Given the description of an element on the screen output the (x, y) to click on. 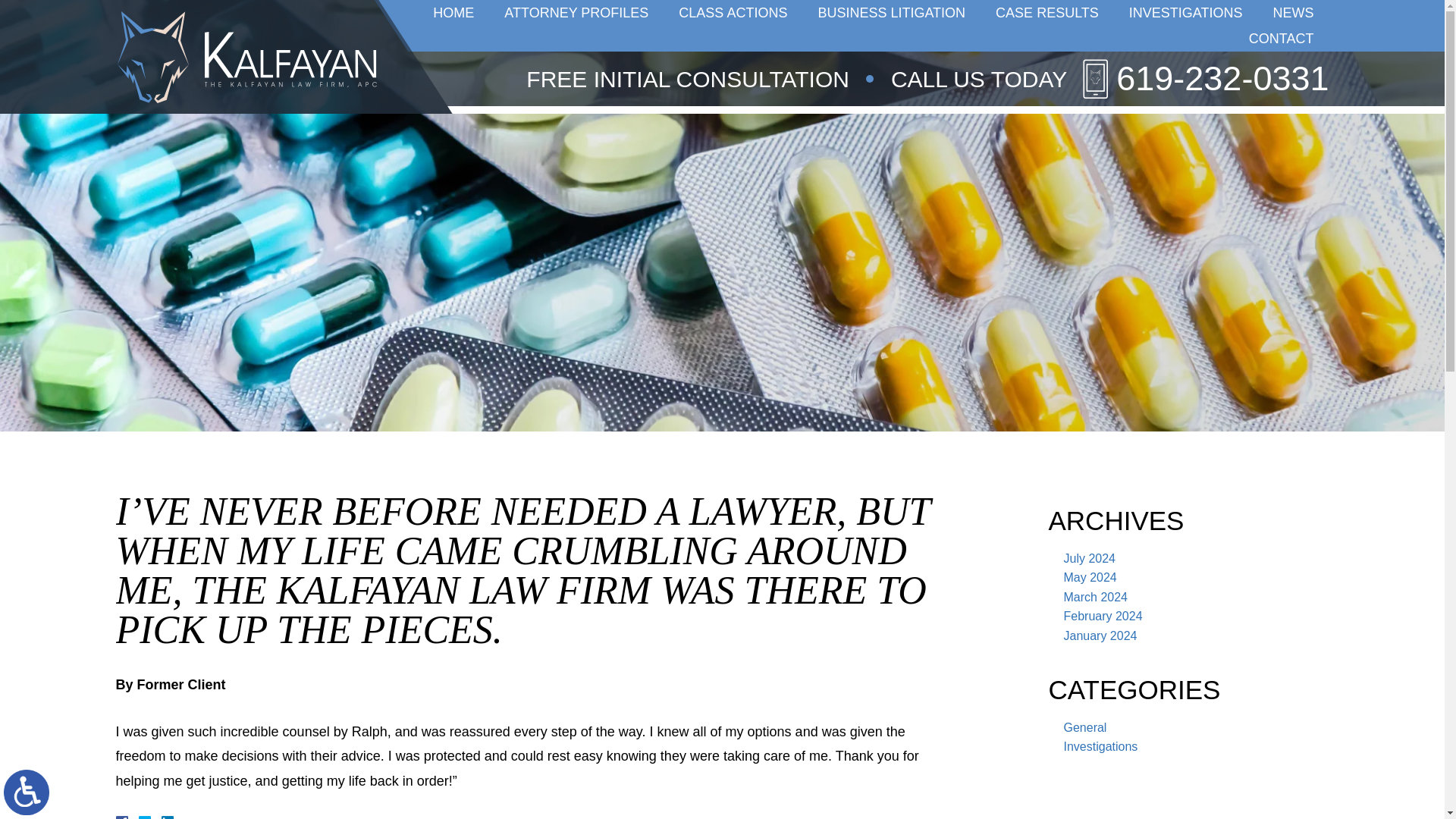
Twitter (149, 817)
HOME (453, 12)
LinkedIn (160, 817)
ATTORNEY PROFILES (576, 12)
INVESTIGATIONS (1185, 12)
CONTACT (1281, 38)
619-232-0331 (1204, 78)
March 2024 (1094, 596)
July 2024 (1088, 558)
CASE RESULTS (1046, 12)
NEWS (1292, 12)
CLASS ACTIONS (732, 12)
February 2024 (1101, 615)
Facebook (139, 817)
BUSINESS LITIGATION (890, 12)
